Given the description of an element on the screen output the (x, y) to click on. 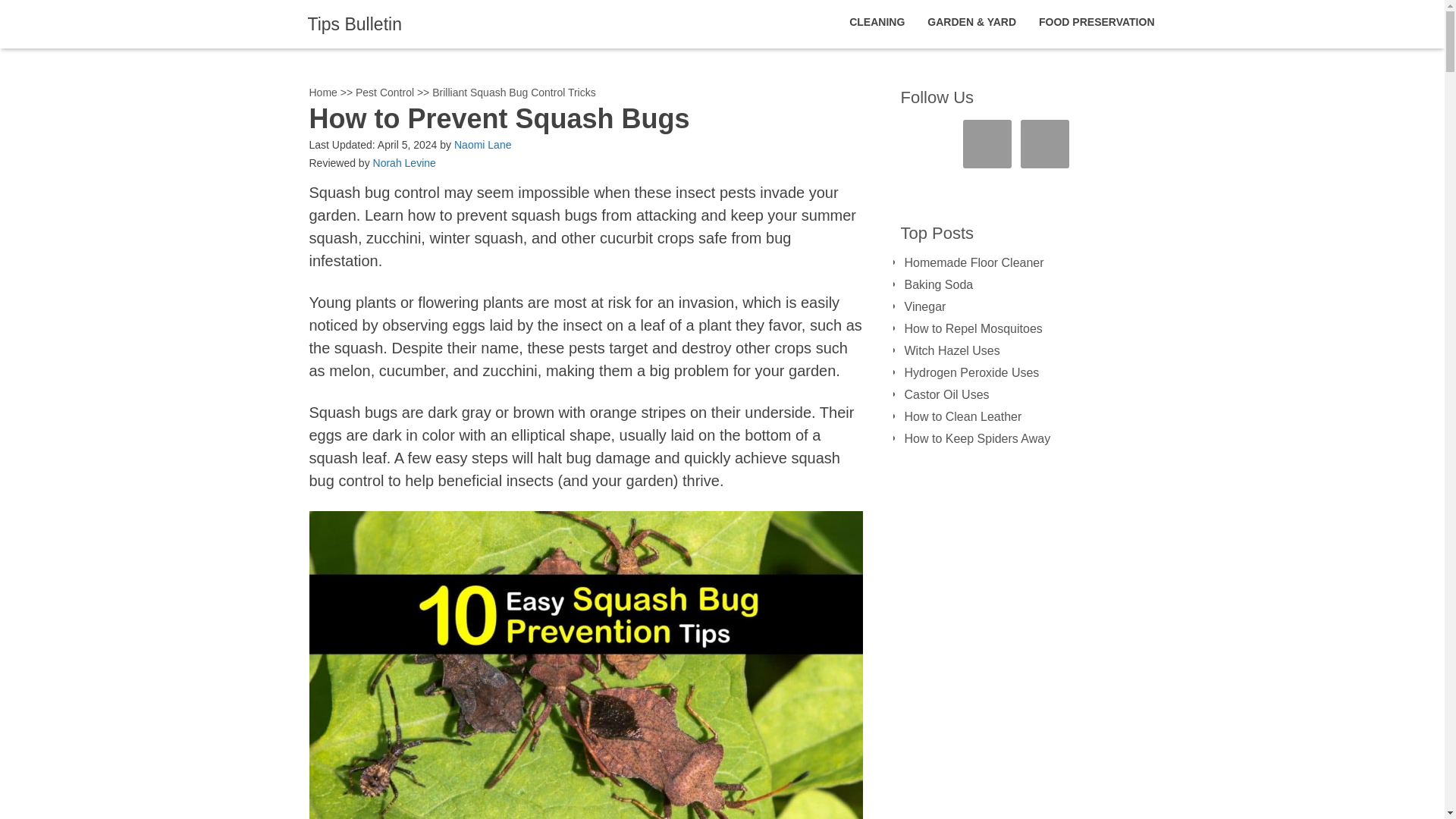
Vinegar (924, 306)
Naomi Lane (483, 144)
How to Clean Leather (963, 416)
Home (322, 92)
Homemade Floor Cleaner (973, 262)
Brilliant Squash Bug Control Tricks (513, 92)
FOOD PRESERVATION (1096, 22)
Witch Hazel Uses (951, 350)
Baking Soda (938, 284)
Hydrogen Peroxide Uses (971, 372)
Castor Oil Uses (946, 394)
Norah Levine (403, 162)
How to Keep Spiders Away (976, 438)
CLEANING (876, 22)
How to Repel Mosquitoes (973, 328)
